Given the description of an element on the screen output the (x, y) to click on. 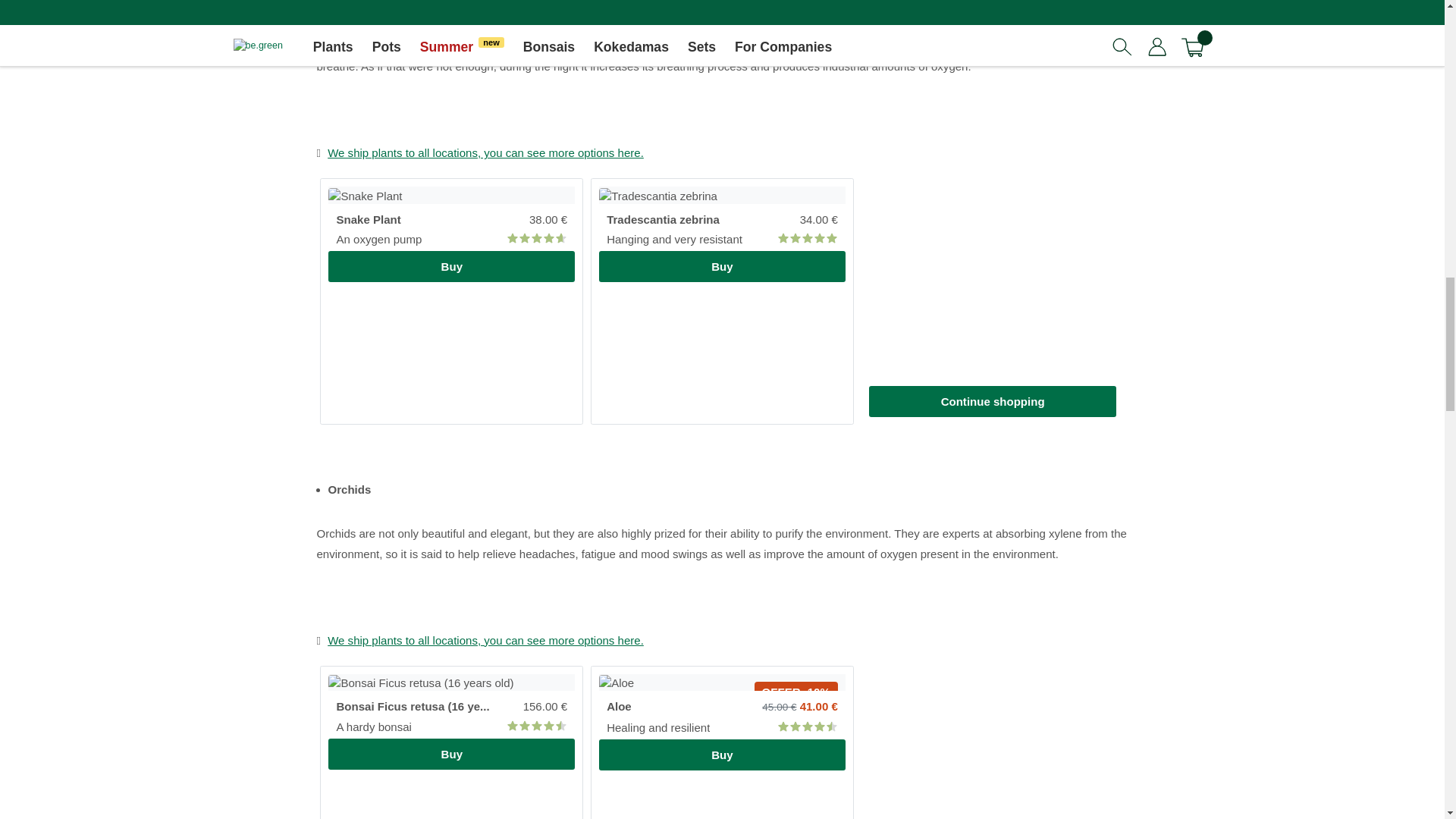
Aloe (721, 754)
Tradescantia zebrina (721, 265)
Snake Plant (452, 265)
